Given the description of an element on the screen output the (x, y) to click on. 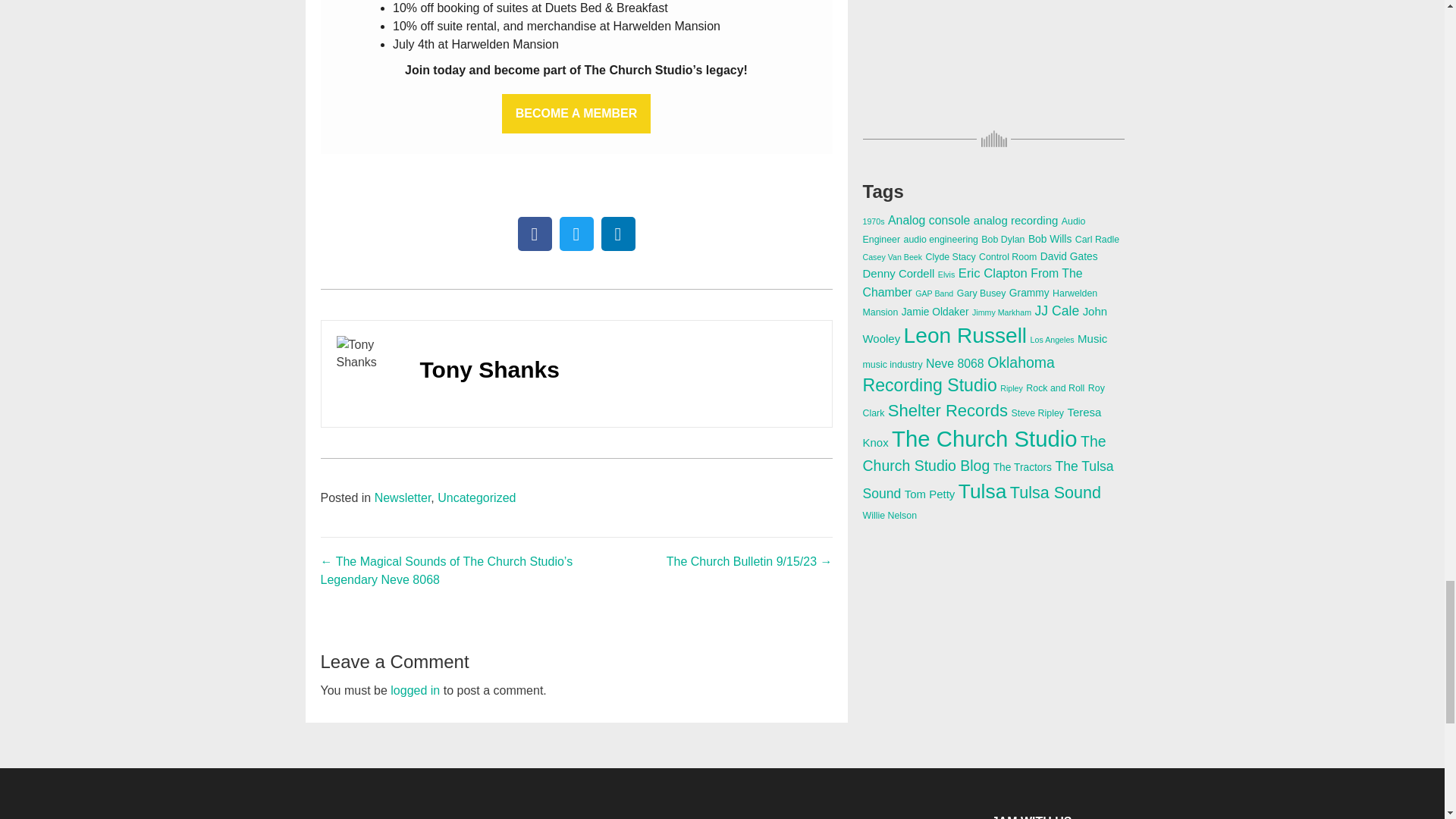
BECOME A MEMBER (576, 113)
